Given the description of an element on the screen output the (x, y) to click on. 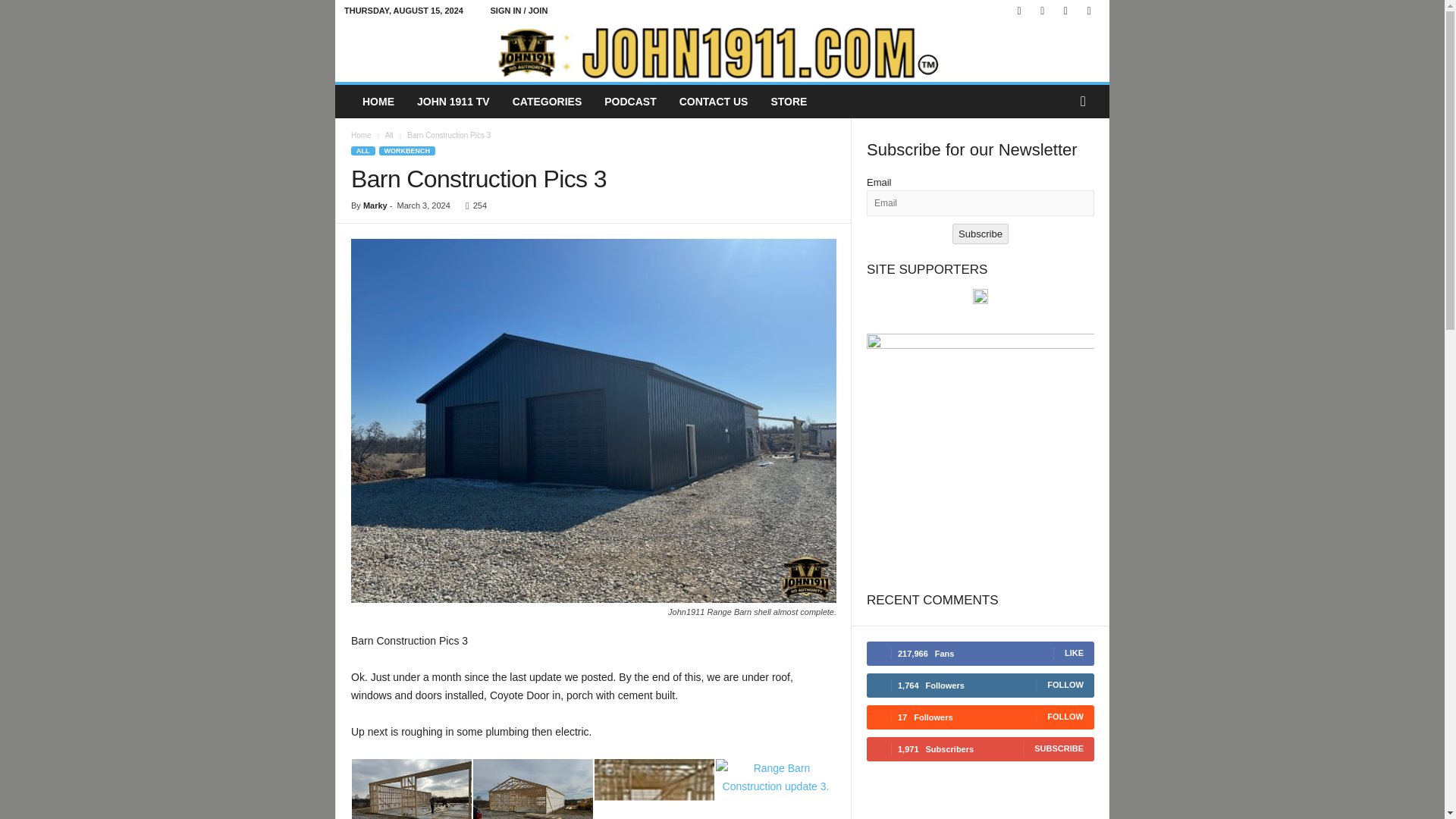
View all posts in All (389, 135)
John1911.com Gun Blog (721, 51)
HOME (378, 101)
CATEGORIES (547, 101)
JOHN 1911 TV (453, 101)
